Given the description of an element on the screen output the (x, y) to click on. 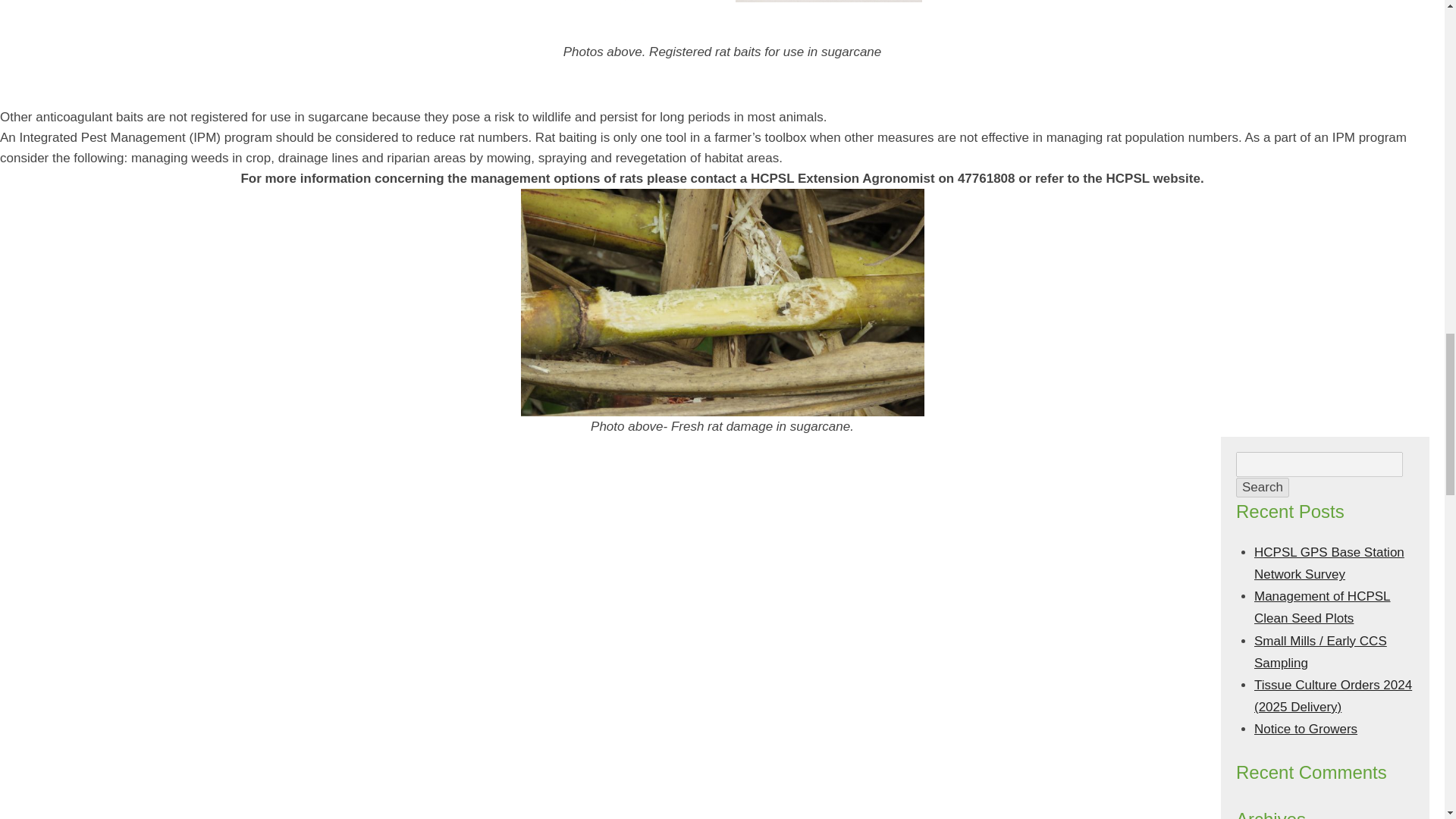
Search (1262, 487)
